Given the description of an element on the screen output the (x, y) to click on. 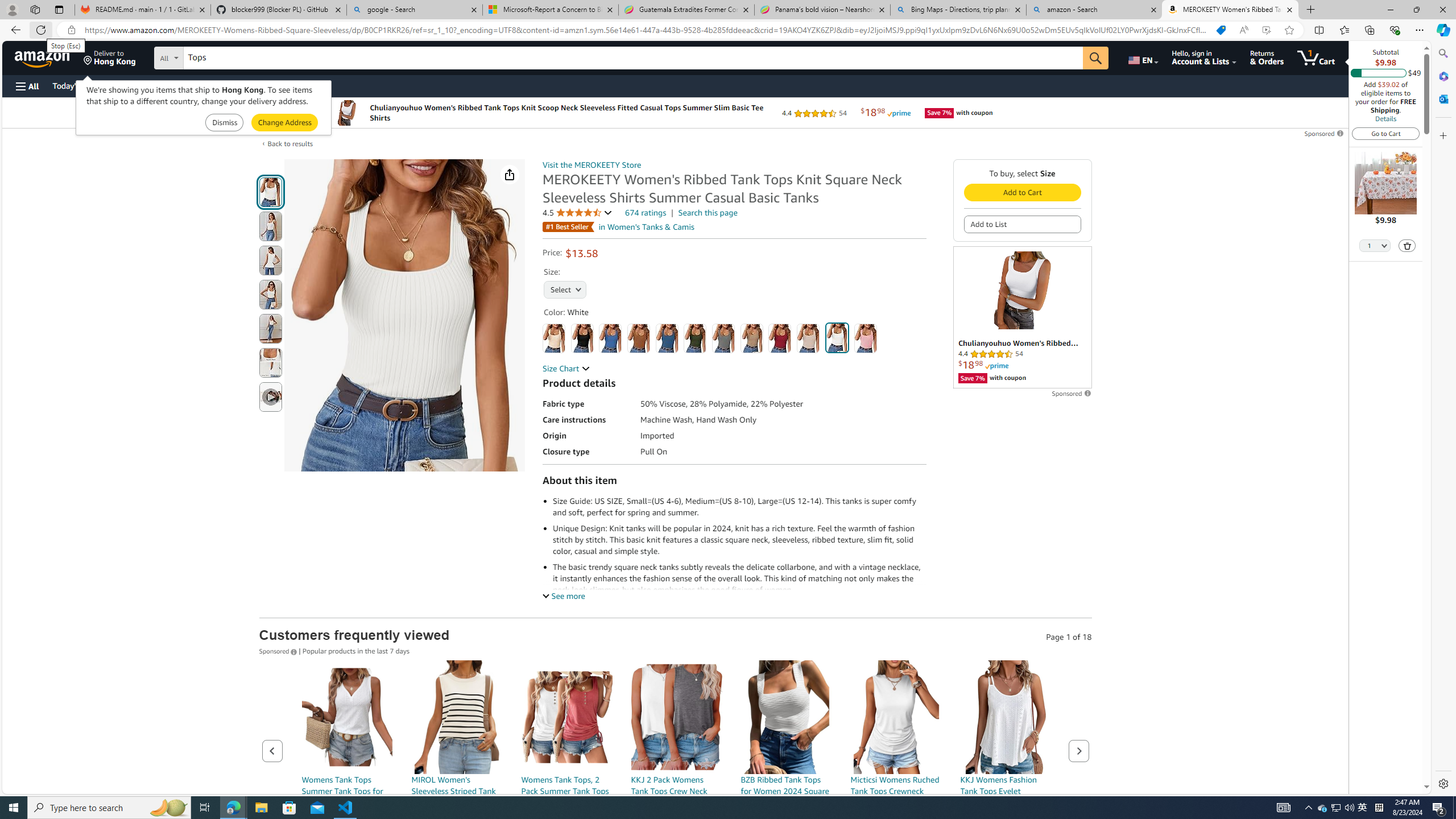
Details (1385, 118)
Sponsored  (278, 650)
White (836, 337)
Caramel (638, 338)
Black (581, 338)
Search in (210, 56)
